Given the description of an element on the screen output the (x, y) to click on. 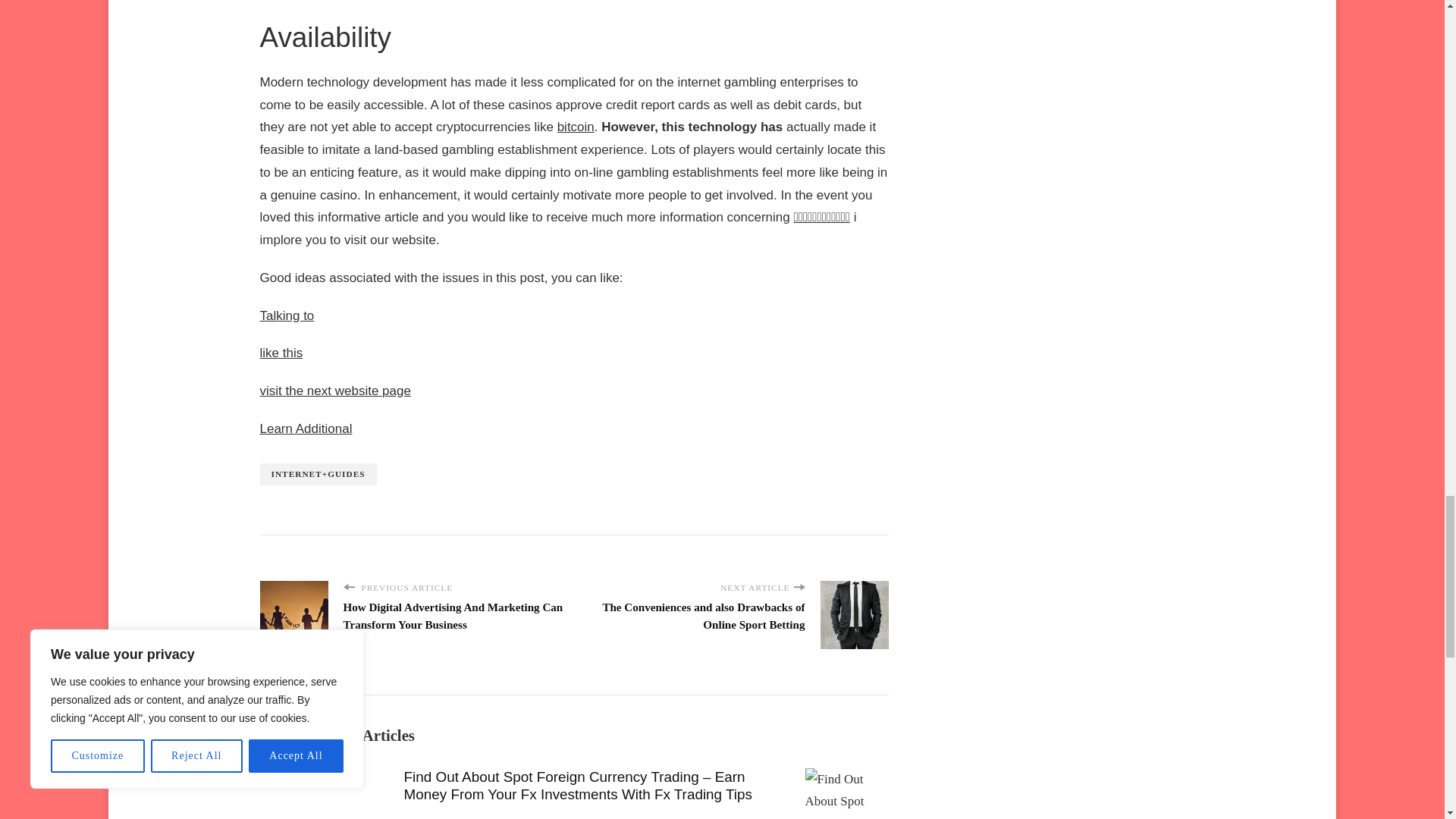
bitcoin (575, 126)
like this (280, 352)
visit the next website page (334, 391)
Talking to (286, 315)
Learn Additional (305, 428)
